Given the description of an element on the screen output the (x, y) to click on. 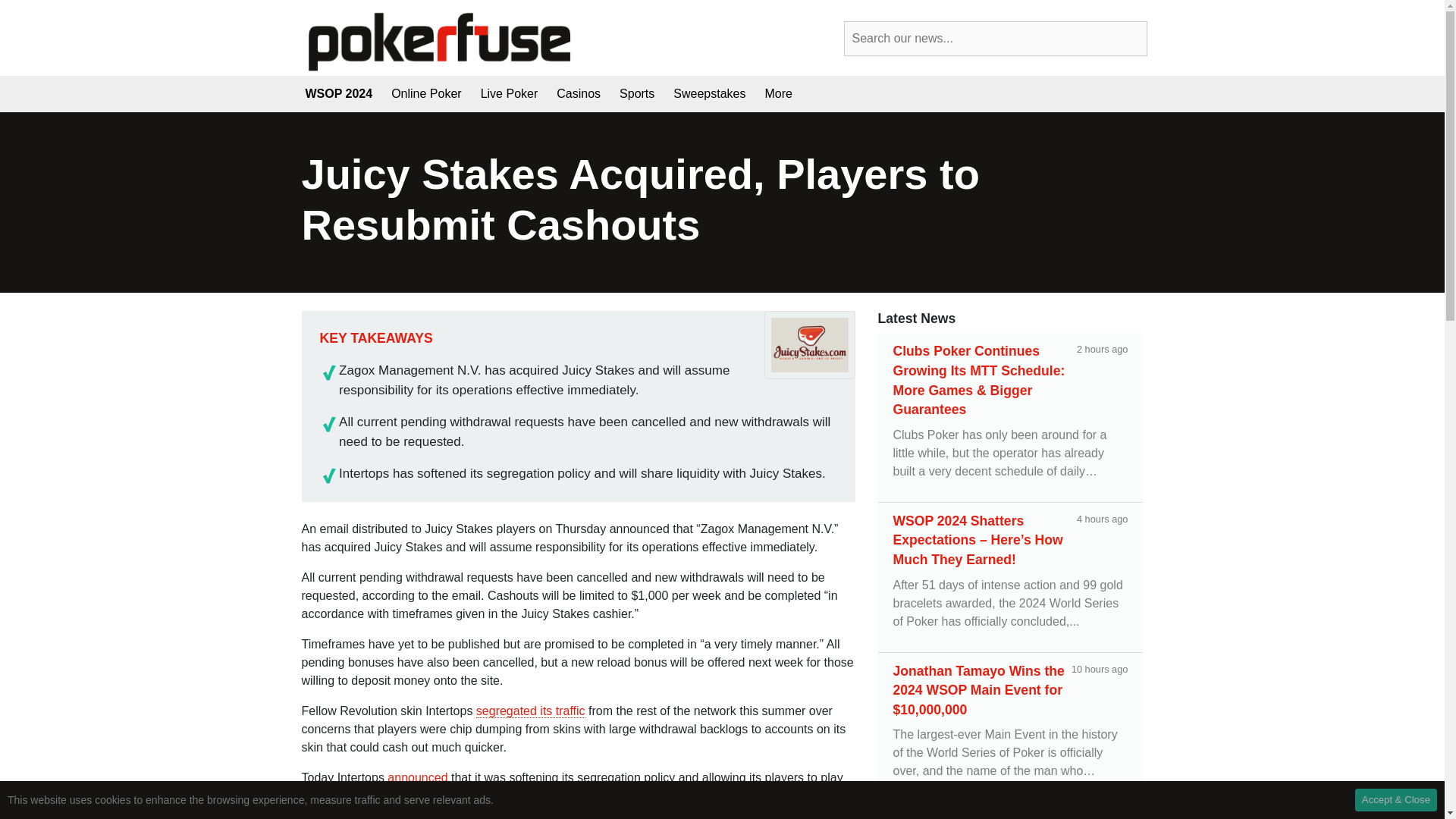
WSOP 2024 (344, 93)
